Given the description of an element on the screen output the (x, y) to click on. 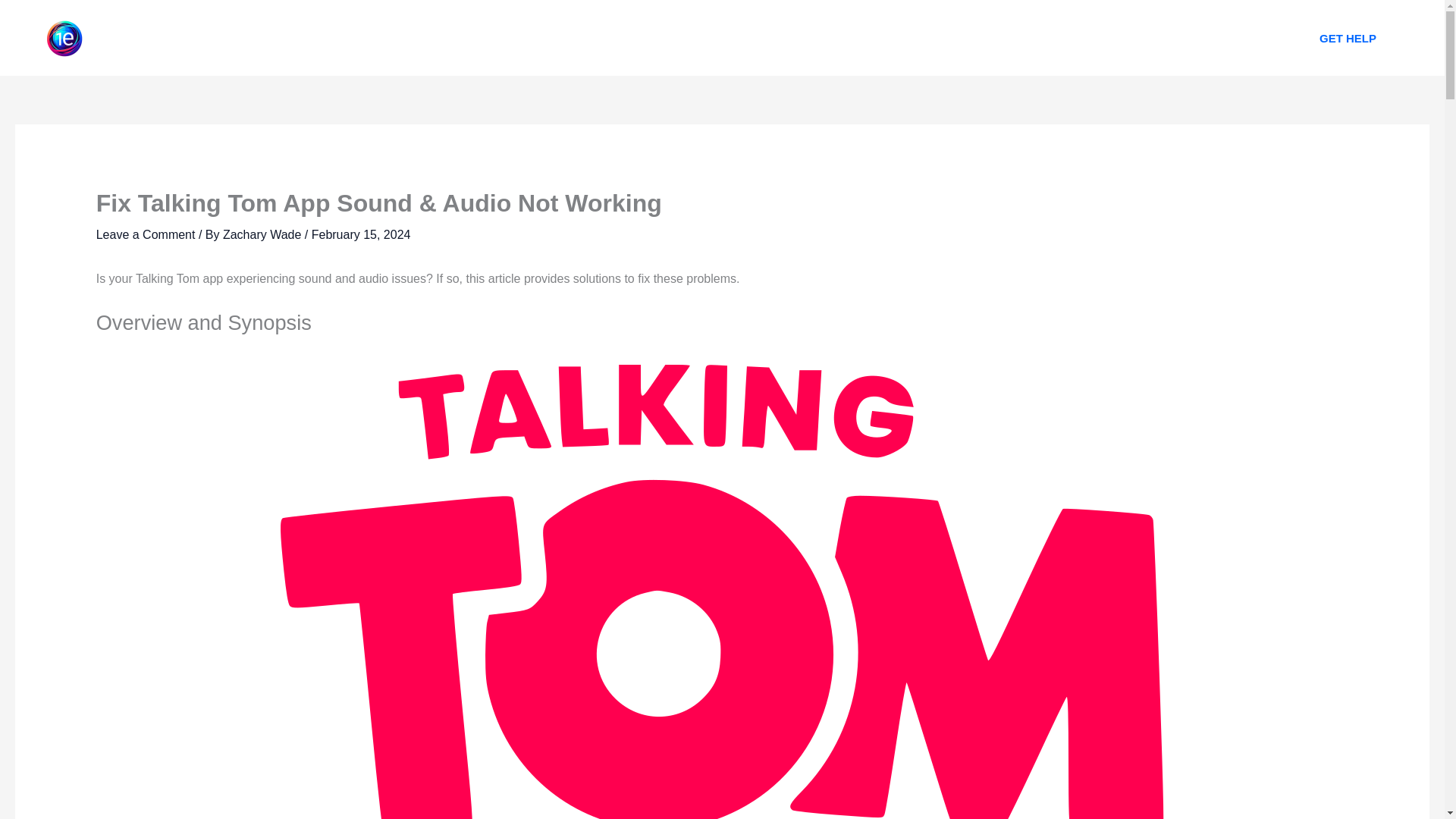
HOME (592, 37)
OFFERINGS (747, 37)
Zachary Wade (263, 234)
GET HELP (1348, 38)
Leave a Comment (145, 234)
CONTACT (841, 37)
ABOUT (662, 37)
View all posts by Zachary Wade (263, 234)
